Given the description of an element on the screen output the (x, y) to click on. 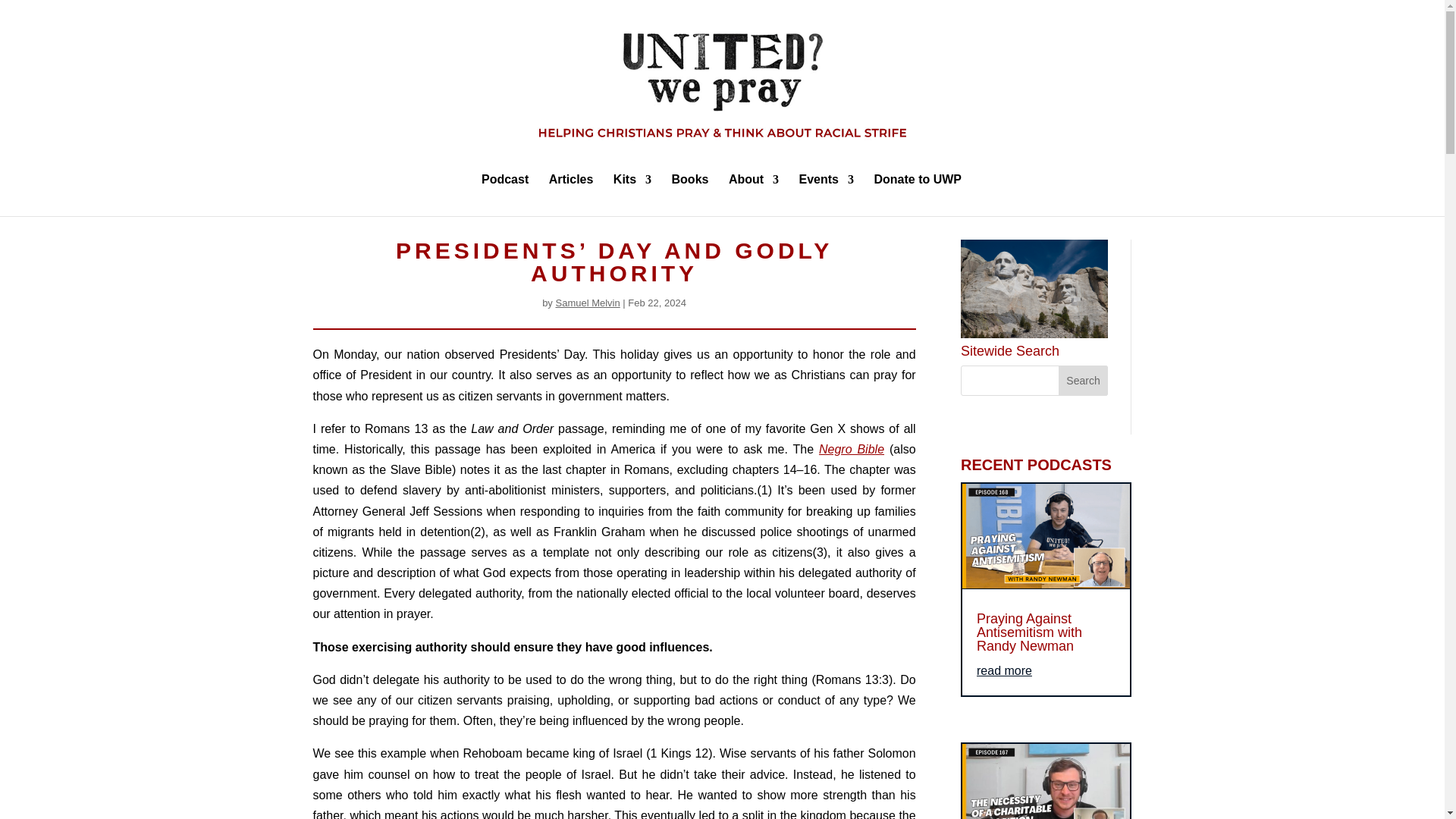
Posts by Samuel Melvin (587, 302)
Donate to UWP (916, 195)
Articles (571, 195)
About (753, 195)
Podcast (504, 195)
Search (1083, 380)
Books (690, 195)
Events (826, 195)
Kits (631, 195)
